Given the description of an element on the screen output the (x, y) to click on. 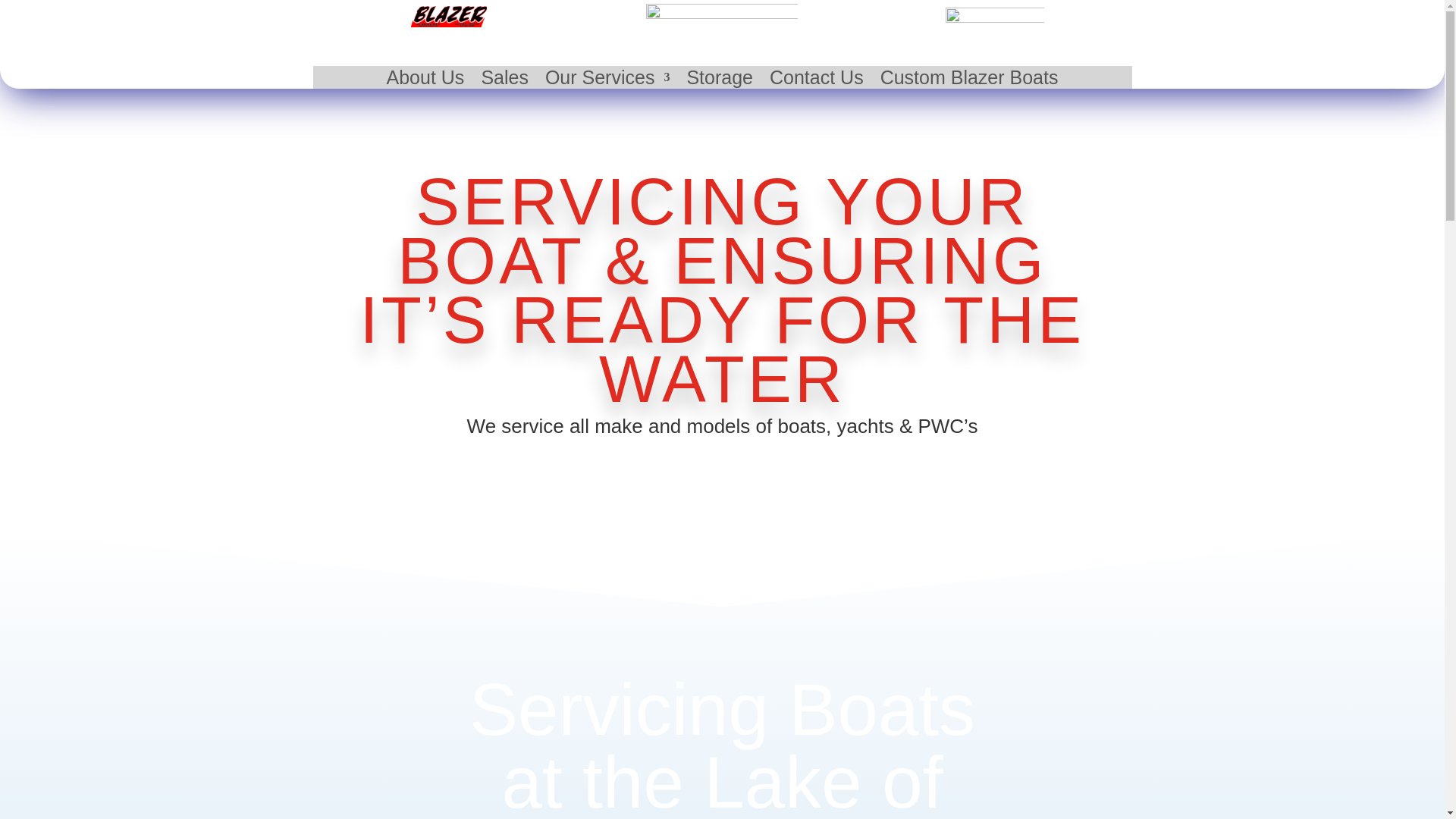
Blazer boats with Y Road Marine (448, 16)
Storage (718, 80)
Sales (504, 80)
Our Services (606, 80)
About Us (425, 80)
mercruiser-logo-1-1 (993, 18)
Custom Blazer Boats (969, 80)
Contact Us (816, 80)
